Given the description of an element on the screen output the (x, y) to click on. 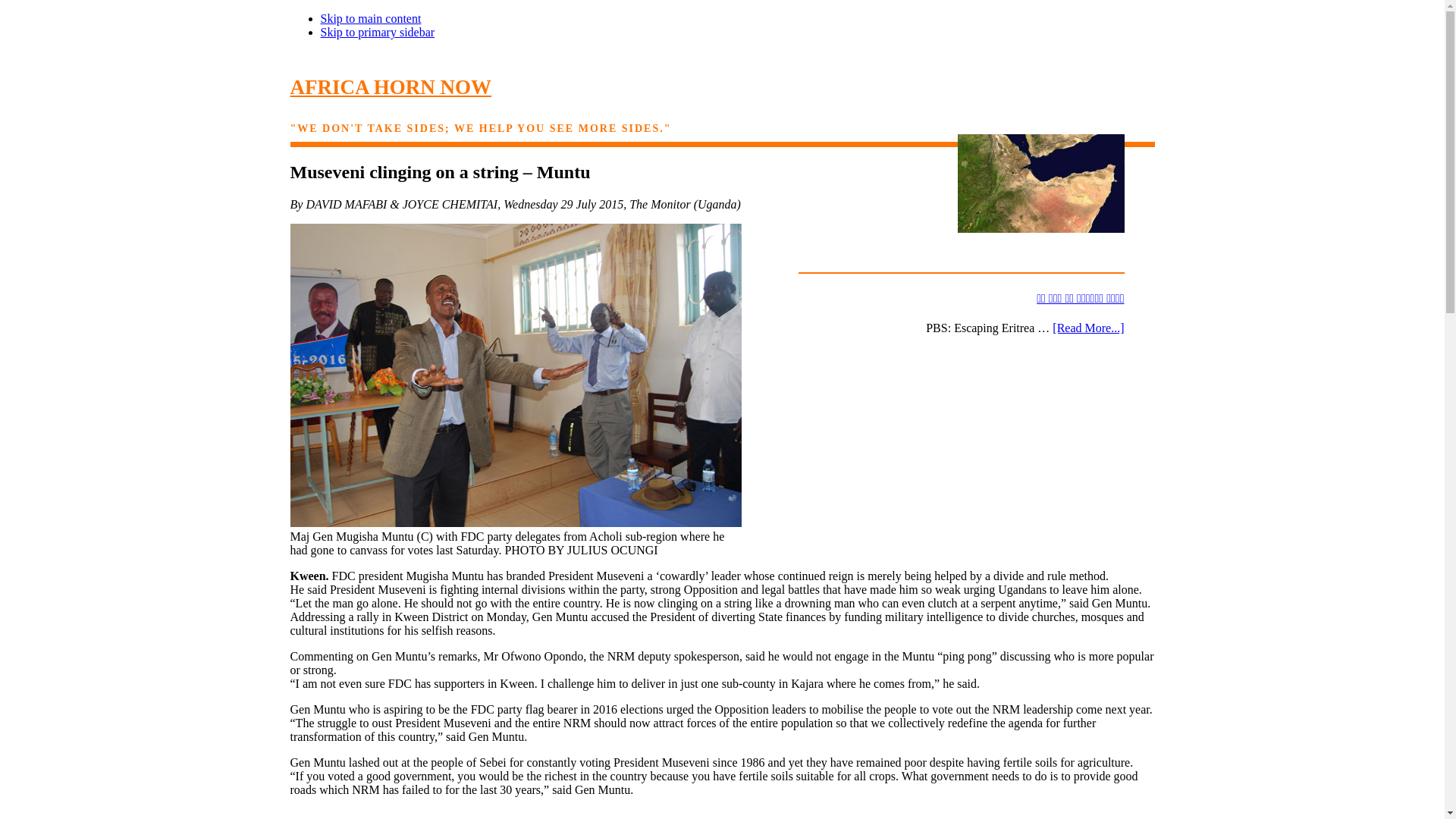
AFRICA HORN NOW (390, 87)
Skip to main content (370, 18)
Skip to primary sidebar (376, 31)
